Given the description of an element on the screen output the (x, y) to click on. 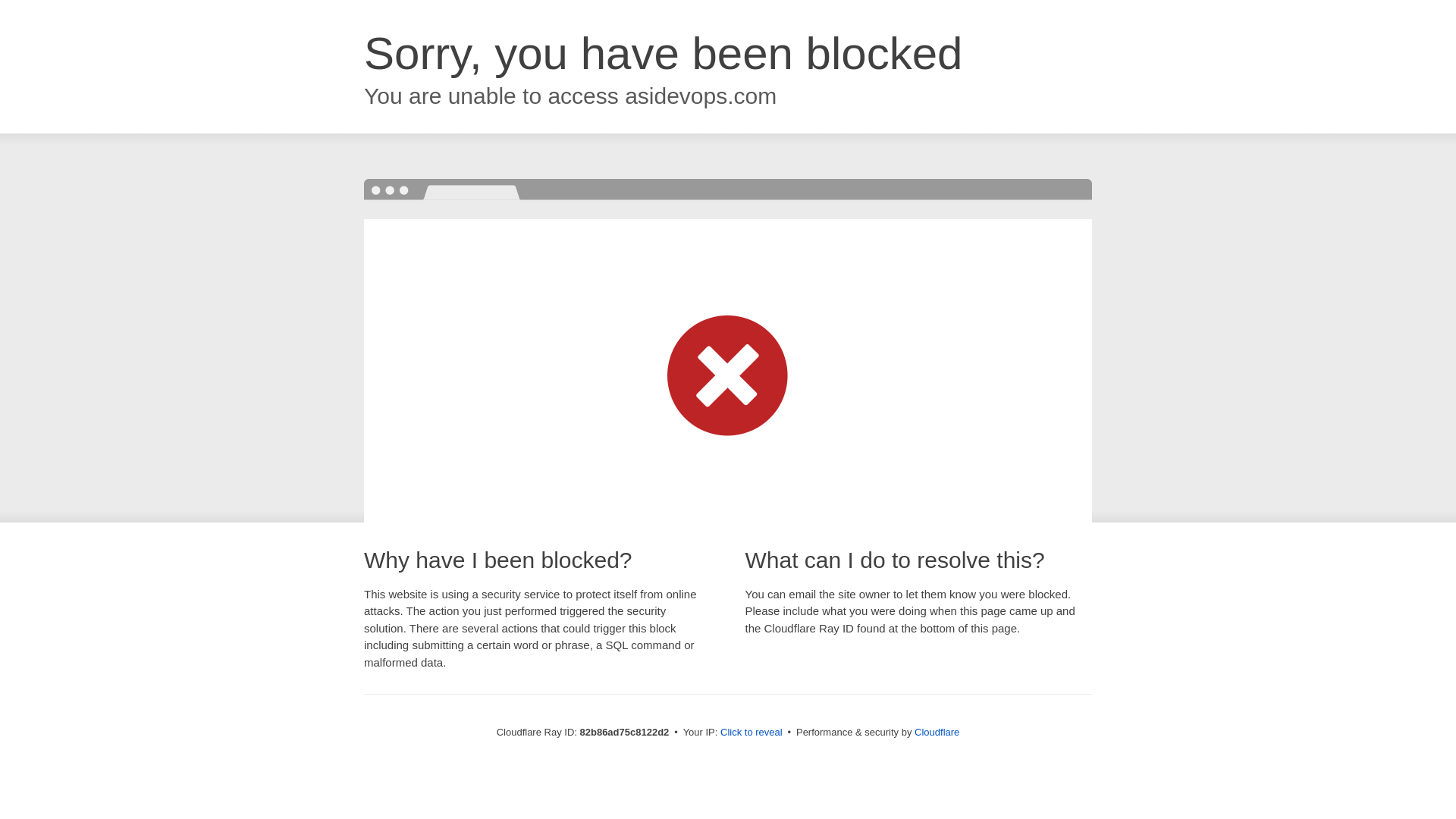
Cloudflare Element type: text (936, 731)
Click to reveal Element type: text (751, 732)
